Given the description of an element on the screen output the (x, y) to click on. 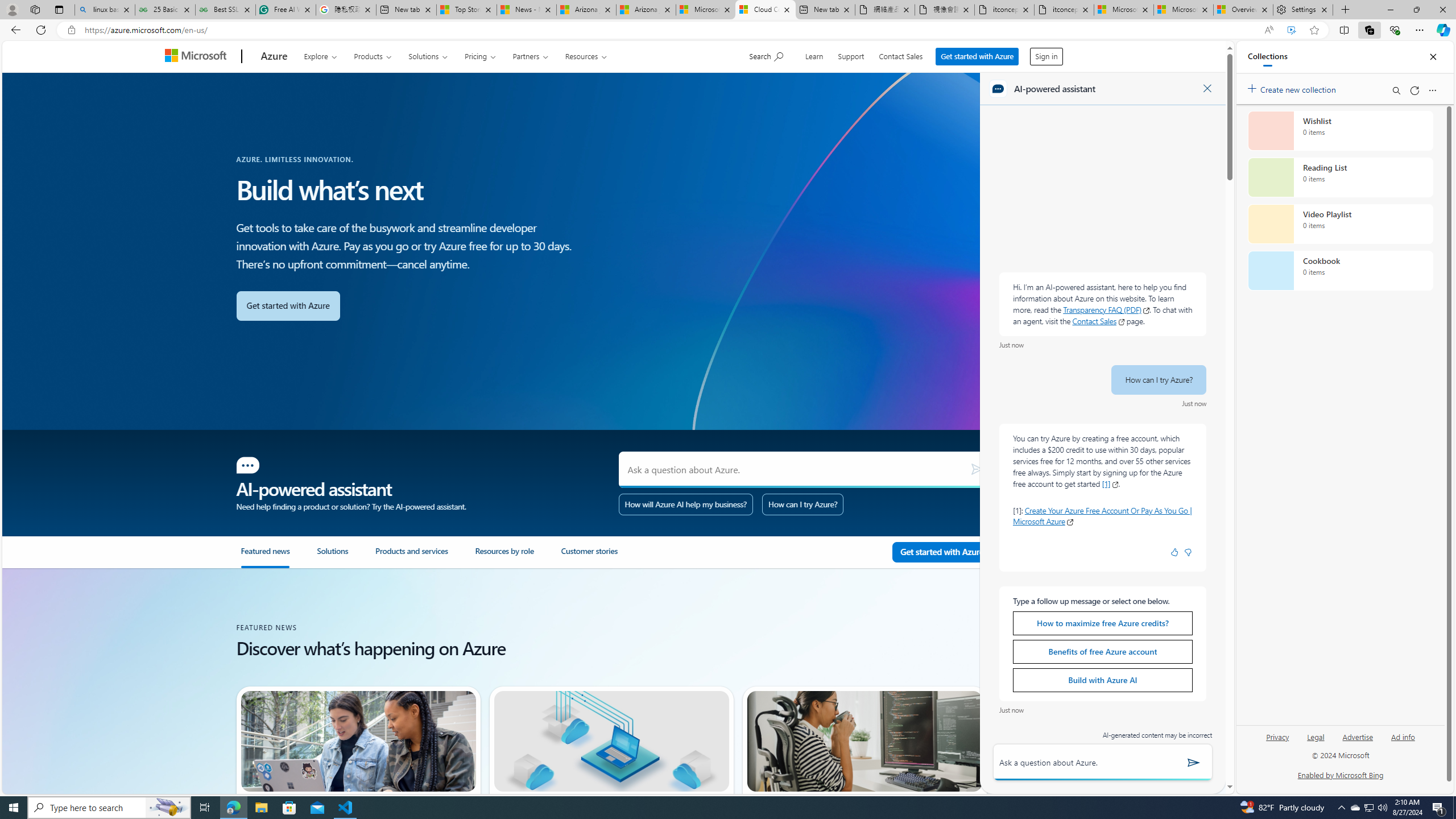
Build with Azure AI (1102, 680)
Featured news (264, 555)
Submit (976, 469)
[1] Opens in a new window; external. (1110, 483)
Class: webchat__send-icon webchat--css-wvcpp-varv44 (1193, 762)
Solutions (346, 556)
